Given the description of an element on the screen output the (x, y) to click on. 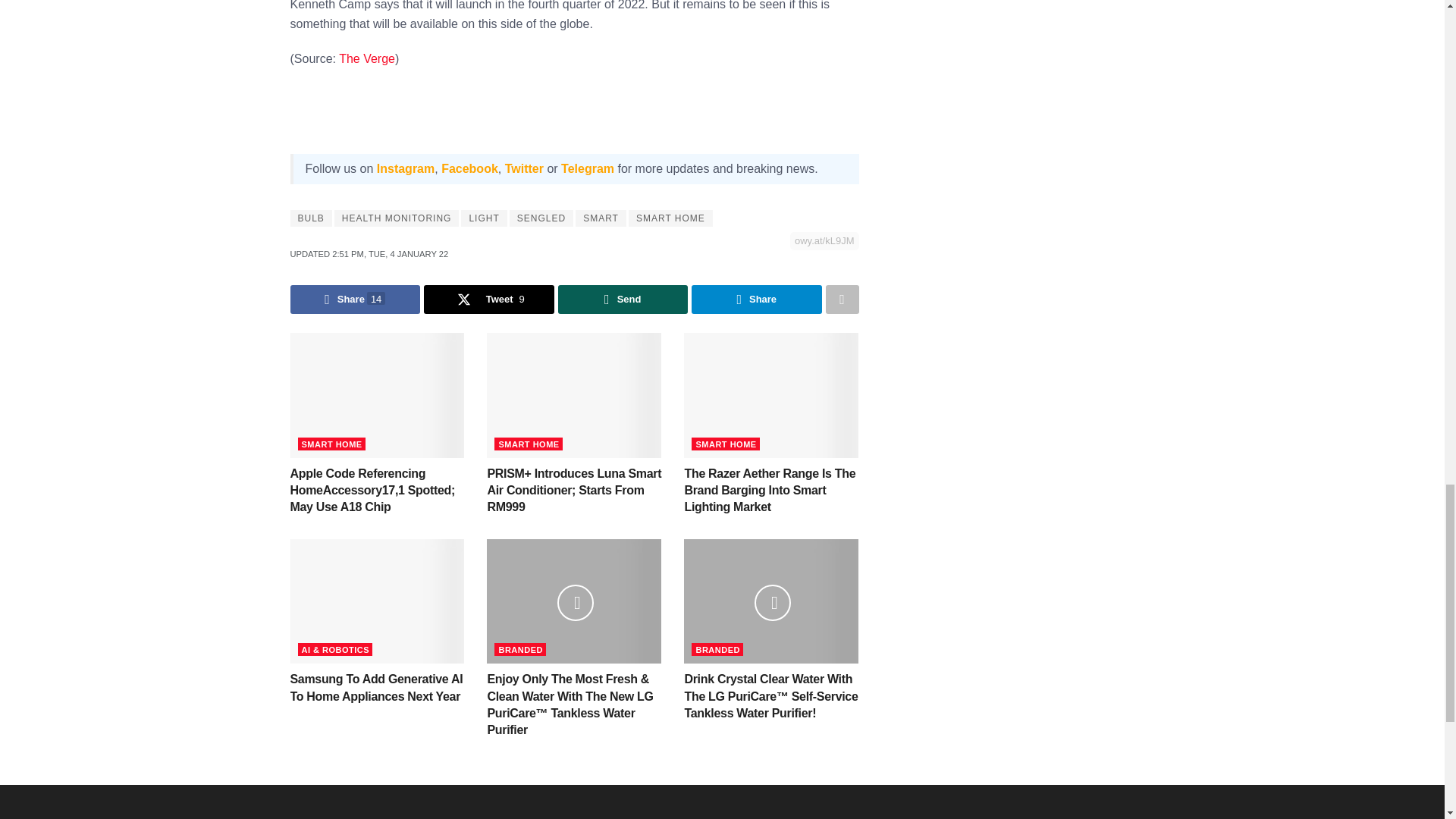
Samsung To Add Generative AI To Home Appliances Next Year 6 (376, 600)
